Given the description of an element on the screen output the (x, y) to click on. 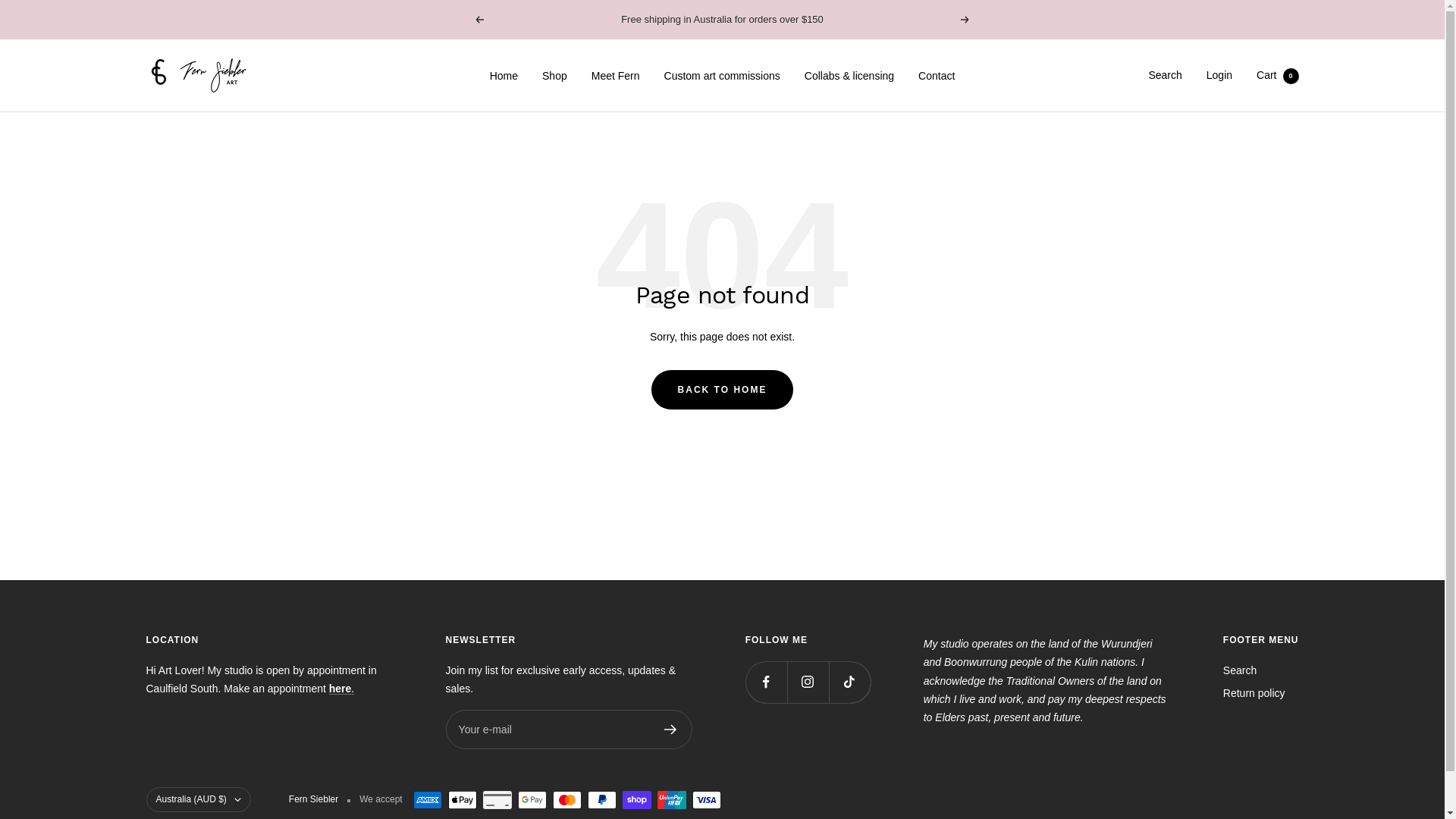
Collabs & licensing Element type: text (849, 75)
BACK TO HOME Element type: text (722, 389)
Previous Element type: text (478, 19)
Australia (AUD $) Element type: text (197, 799)
Register Element type: hover (670, 729)
Shop Element type: text (554, 75)
AU Element type: text (217, 684)
here. Element type: text (341, 688)
US Element type: text (217, 755)
Cart
0 Element type: text (1277, 75)
HK Element type: text (217, 720)
Meet Fern Element type: text (615, 75)
Return policy Element type: text (1254, 693)
Home Element type: text (503, 75)
Custom art commissions Element type: text (722, 75)
Login Element type: text (1219, 75)
Fern Siebler Element type: text (198, 75)
CA Element type: text (217, 702)
NZ Element type: text (217, 737)
Next Element type: text (964, 19)
Search Element type: text (1164, 75)
Search Element type: text (1239, 670)
Contact Element type: text (936, 75)
